Given the description of an element on the screen output the (x, y) to click on. 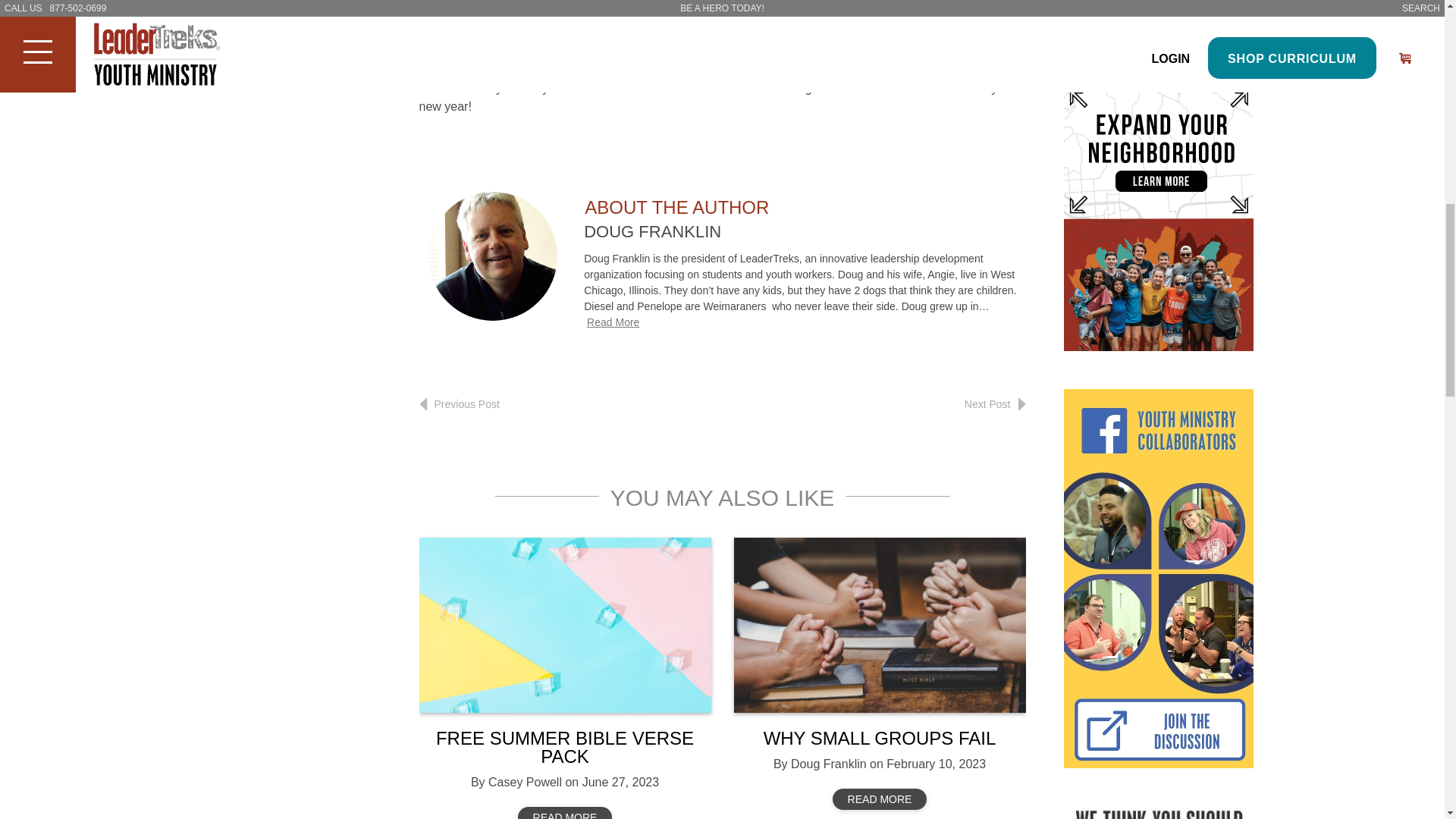
Previous Post (459, 404)
WHY SMALL GROUPS FAIL (878, 738)
FREE SUMMER BIBLE VERSE PACK (564, 747)
Read More (612, 322)
FREE summer bible Verse PACK (564, 624)
Why Small Groups Fail (879, 624)
READ MORE (565, 812)
Next Post (994, 404)
READ MORE (879, 798)
